Given the description of an element on the screen output the (x, y) to click on. 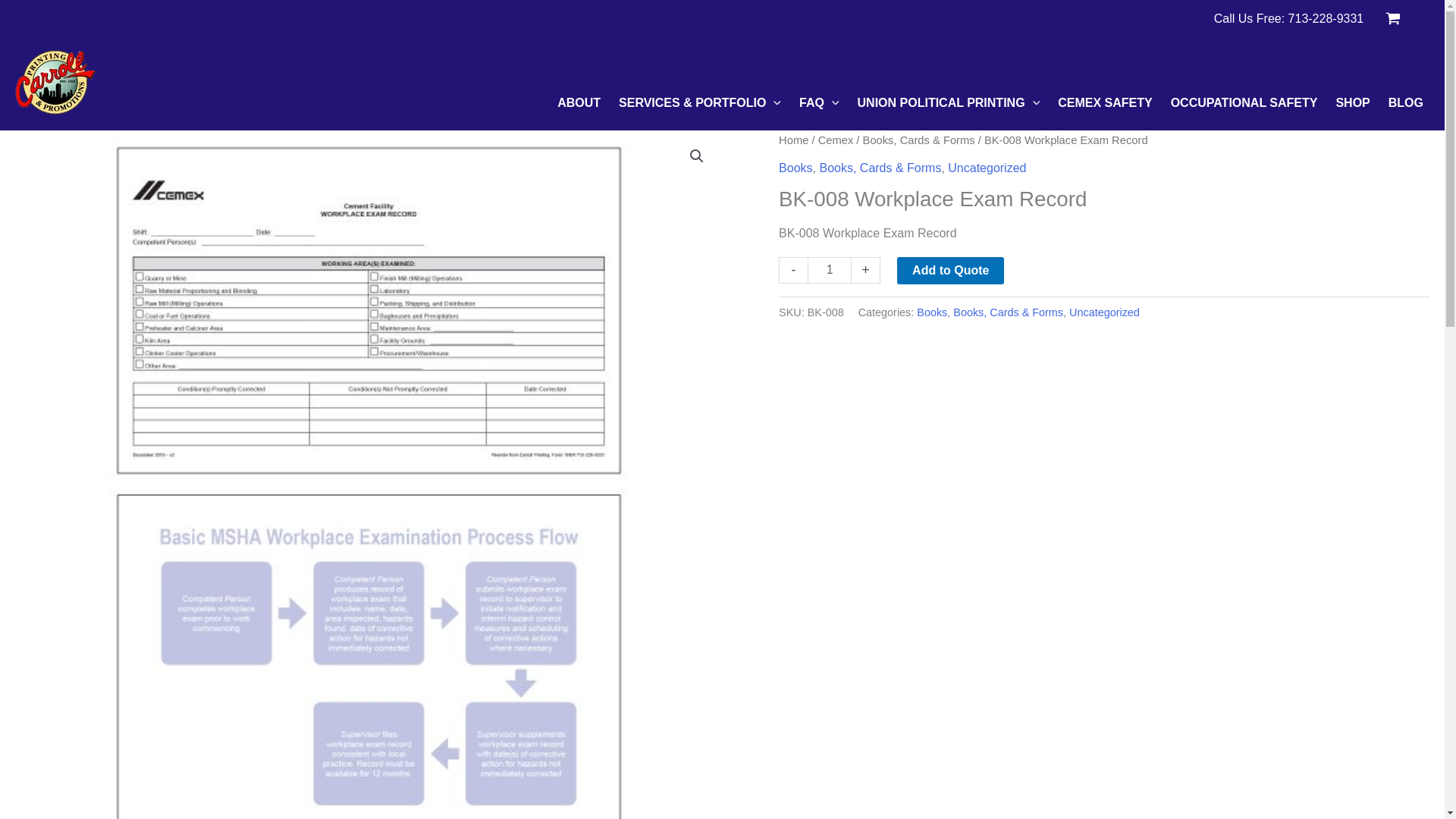
ABOUT (575, 102)
- (793, 270)
Home (793, 140)
Cemex (835, 140)
713-228-9331 (1326, 18)
UNION POLITICAL PRINTING (945, 102)
BLOG (1402, 102)
1 (829, 270)
OCCUPATIONAL SAFETY (1240, 102)
Books (795, 167)
